Given the description of an element on the screen output the (x, y) to click on. 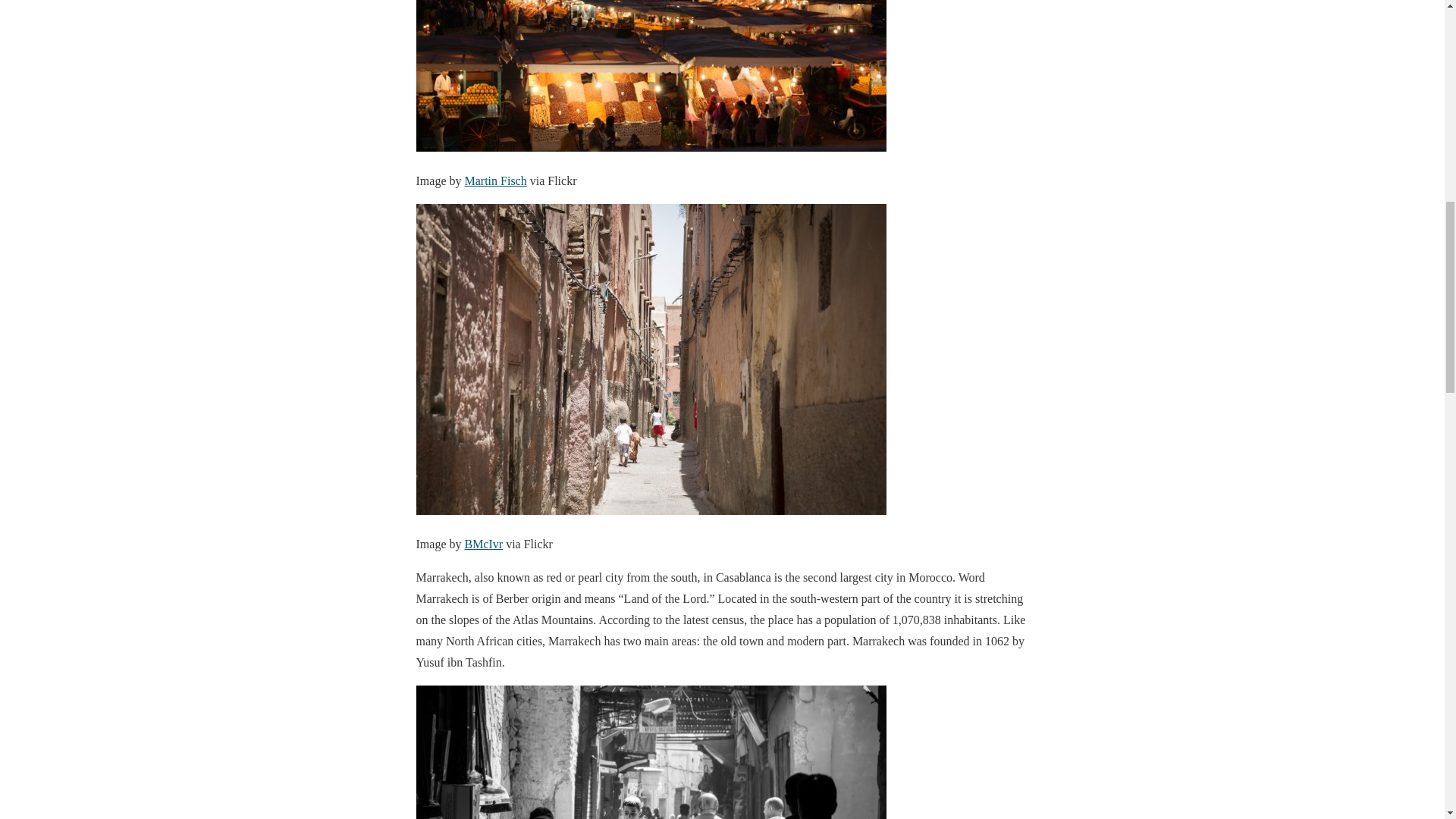
Marrakech - Red City of God (649, 752)
Martin Fisch (494, 180)
Go to BMcIvr's photostream (483, 543)
BMcIvr (483, 543)
Marrakech - Red City of God (649, 75)
Go to Martin Fisch's photostream (494, 180)
